Given the description of an element on the screen output the (x, y) to click on. 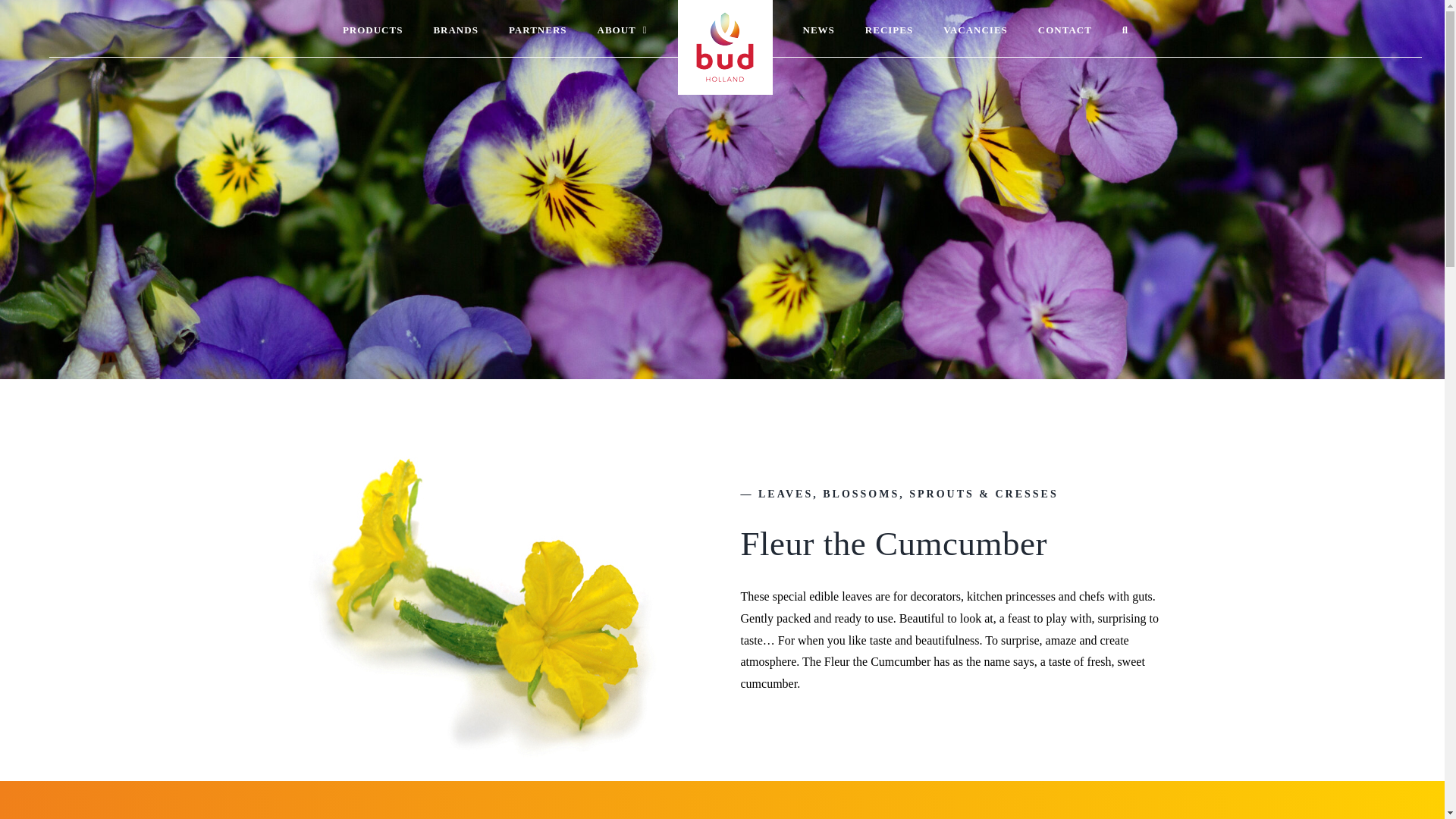
BRANDS (454, 28)
CONTACT (1065, 28)
PARTNERS (537, 28)
ABOUT (621, 28)
RECIPES (888, 28)
PRODUCTS (372, 28)
VACANCIES (975, 28)
